Given the description of an element on the screen output the (x, y) to click on. 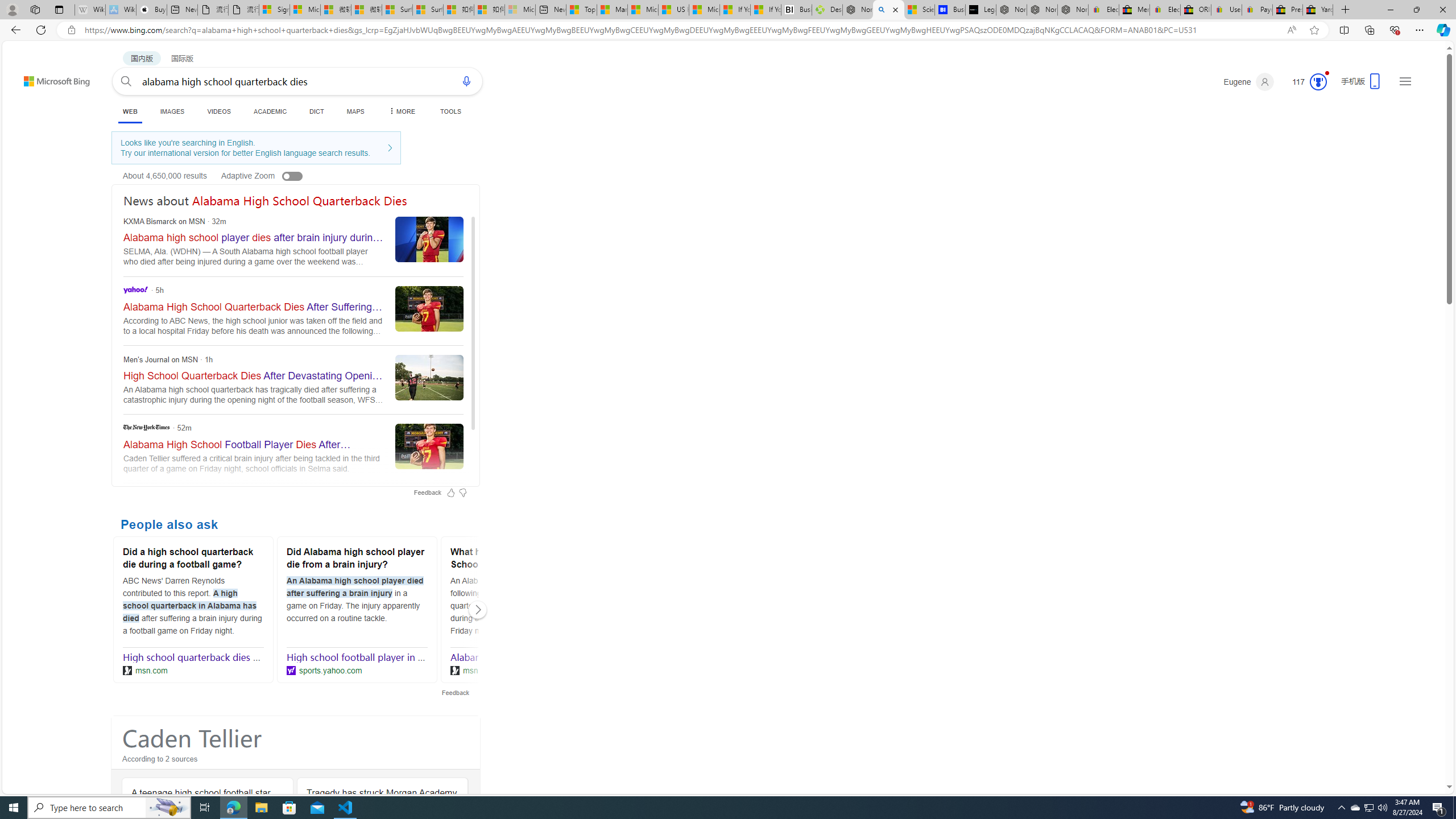
Did Alabama high school player die from a brain injury? (357, 560)
Click to scroll right (477, 609)
According to 2 sources (295, 760)
Search more (1423, 753)
Marine life - MSN (611, 9)
Descarga Driver Updater (826, 9)
